Given the description of an element on the screen output the (x, y) to click on. 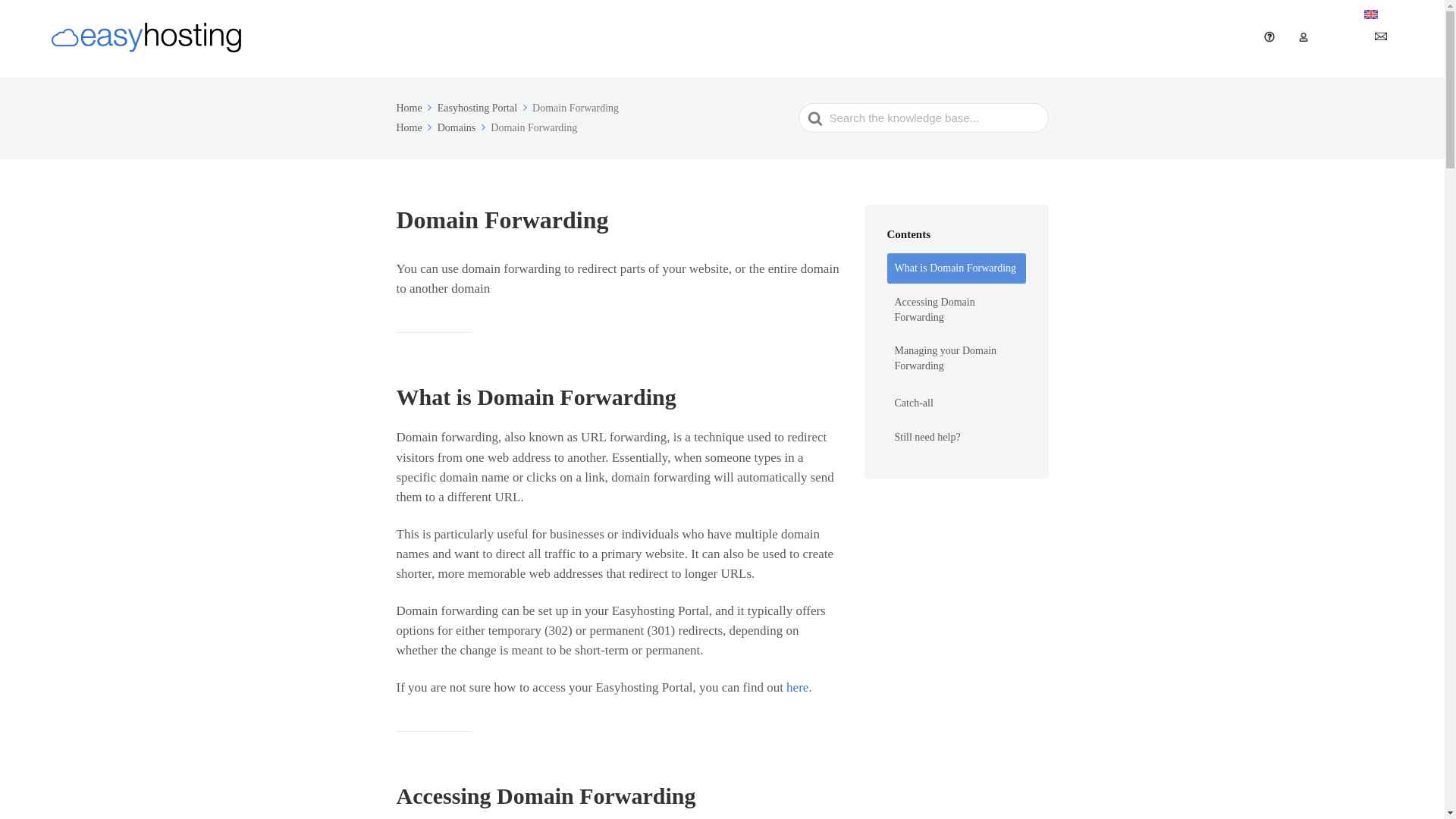
here (797, 687)
Logo (1181, 37)
Domains (462, 127)
Home (414, 127)
Blog (1228, 37)
English (1390, 15)
Home (414, 107)
English (1390, 15)
Online Business Tools (1088, 37)
Websites (863, 37)
Digital Marketing (960, 37)
Email (799, 37)
Login (1324, 37)
Domains (741, 37)
Easyhosting Portal (483, 107)
